Given the description of an element on the screen output the (x, y) to click on. 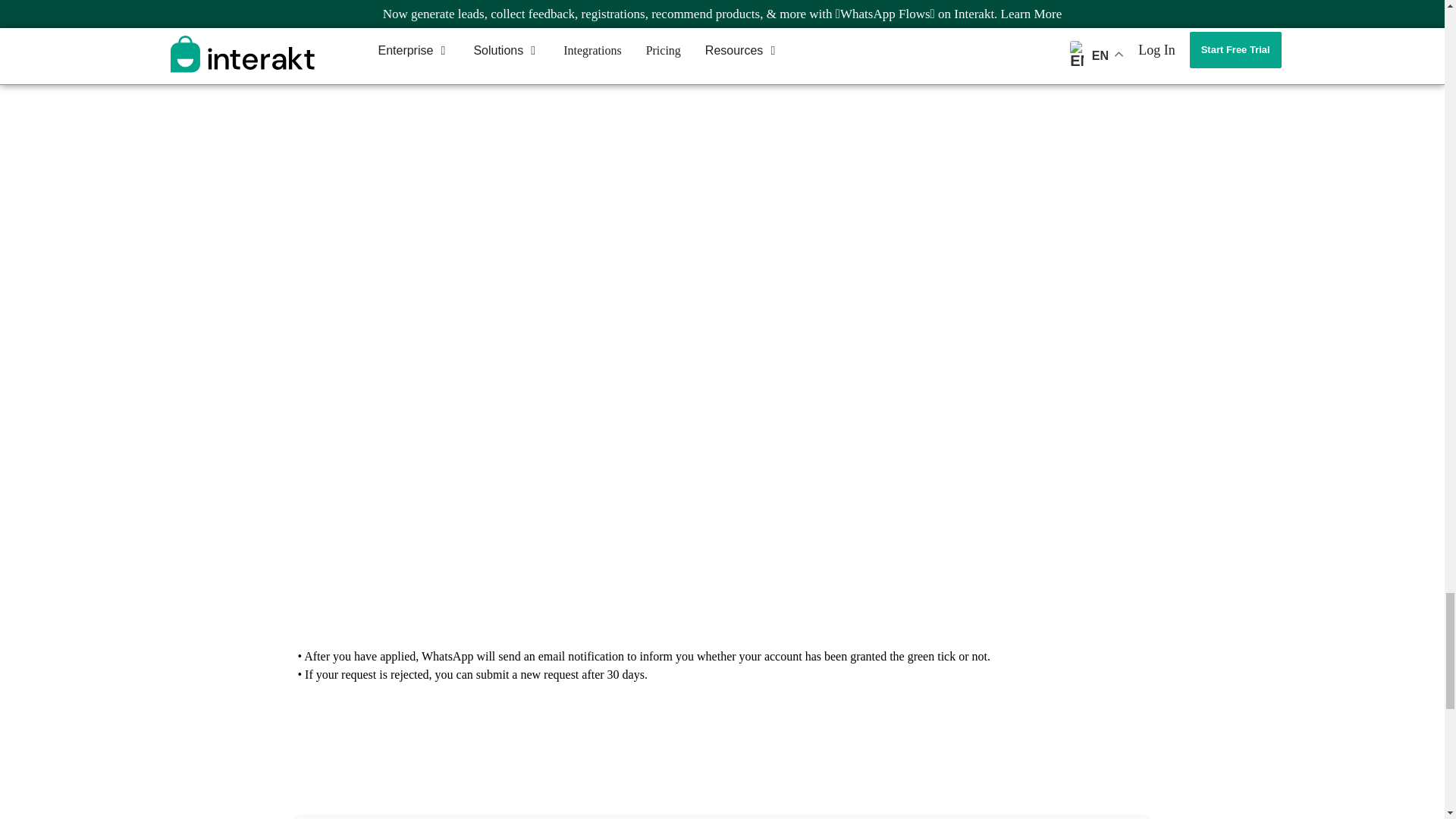
All about Green Tick 11 (721, 52)
All about Green Tick 12 (721, 244)
All about Green Tick 13 (721, 508)
